Given the description of an element on the screen output the (x, y) to click on. 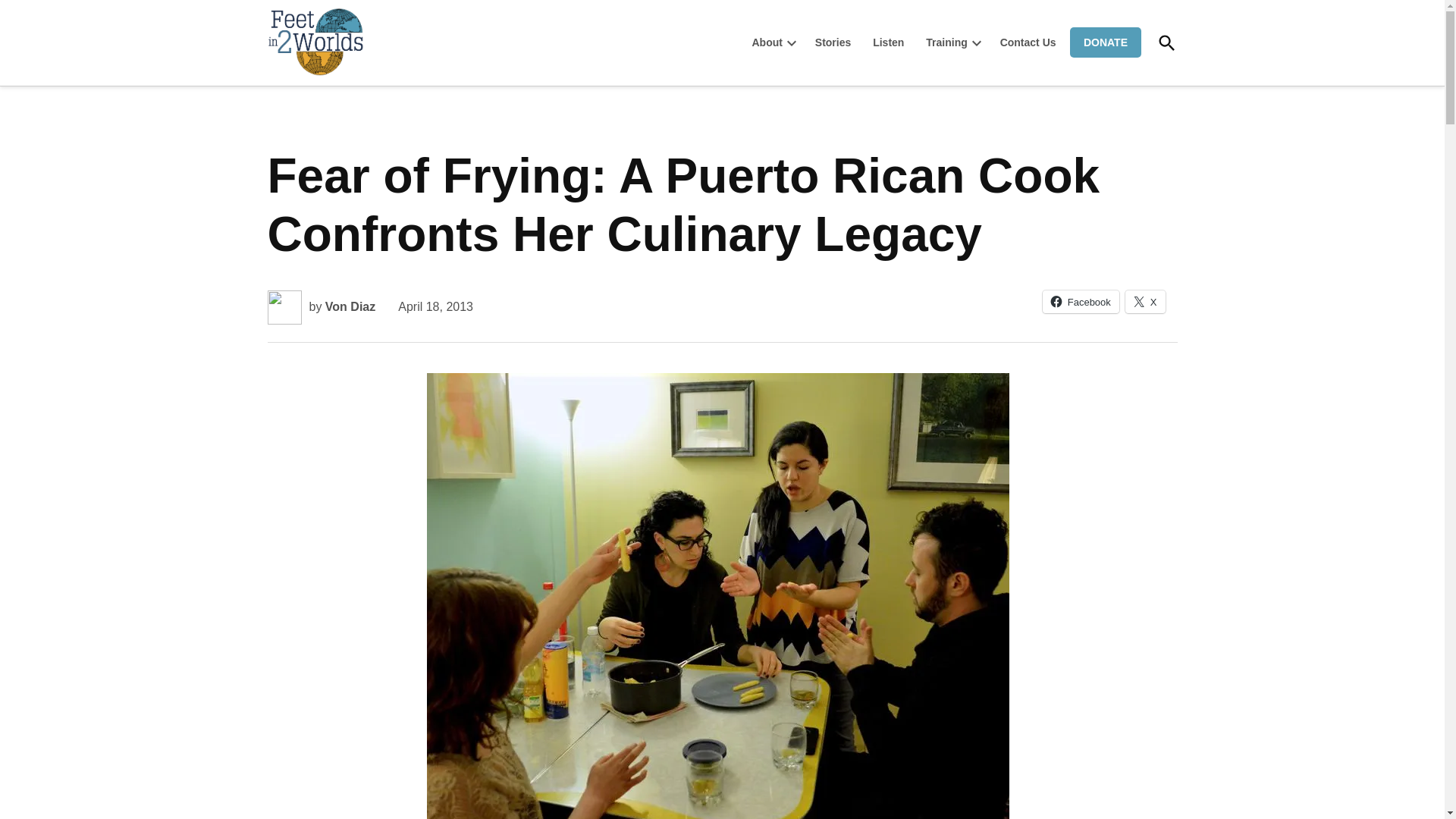
Training (942, 42)
Click to share on Facebook (1080, 301)
Feet in 2 Worlds (401, 74)
Open dropdown menu (976, 42)
Open dropdown menu (791, 42)
Listen (887, 42)
About (766, 42)
Stories (833, 42)
Click to share on X (1145, 301)
